Given the description of an element on the screen output the (x, y) to click on. 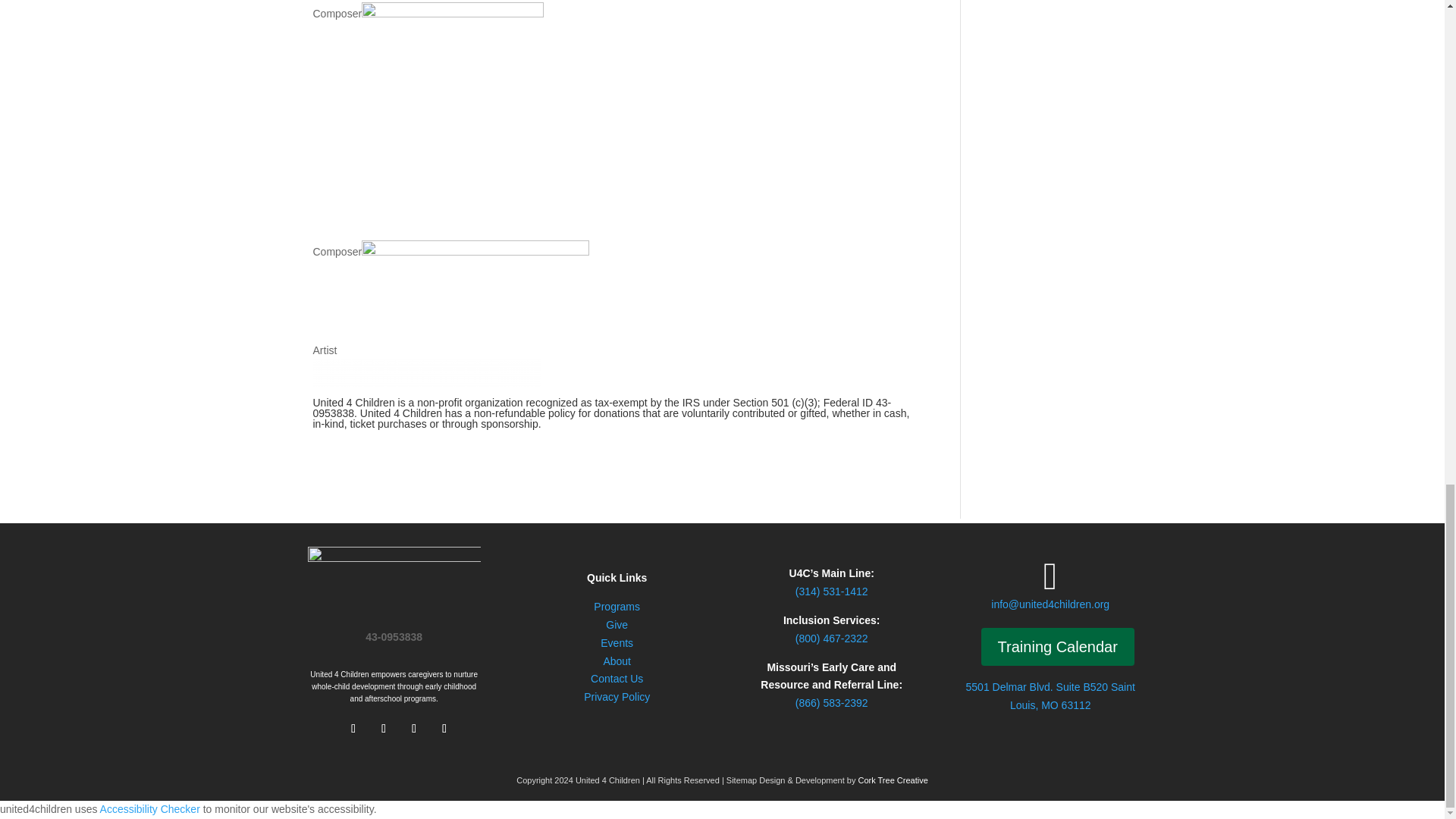
Follow on LinkedIn (444, 728)
Follow on X (383, 728)
Follow on Instagram (413, 728)
Follow on Facebook (352, 728)
